Given the description of an element on the screen output the (x, y) to click on. 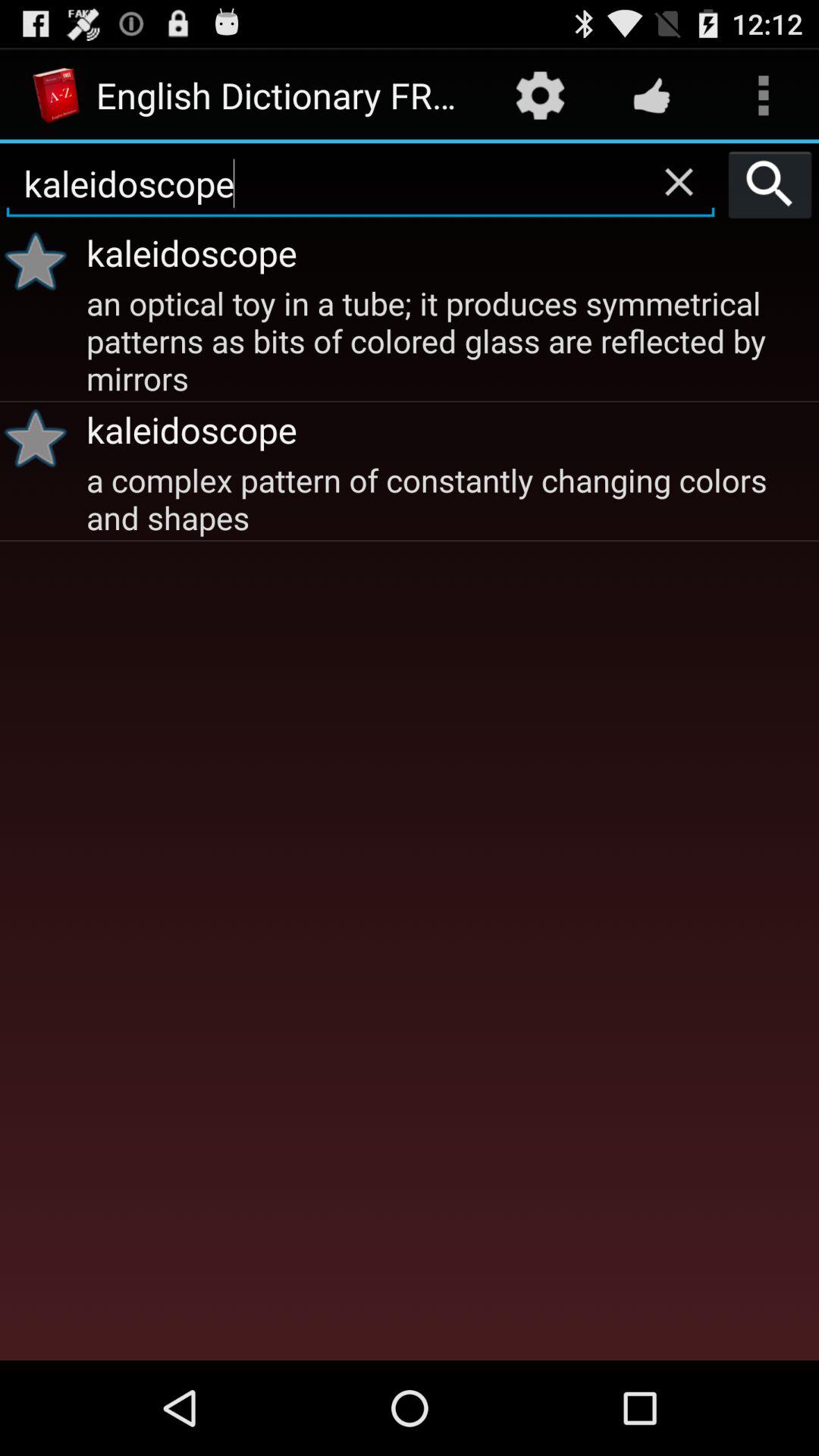
tap item to the right of english dictionary free icon (540, 95)
